Given the description of an element on the screen output the (x, y) to click on. 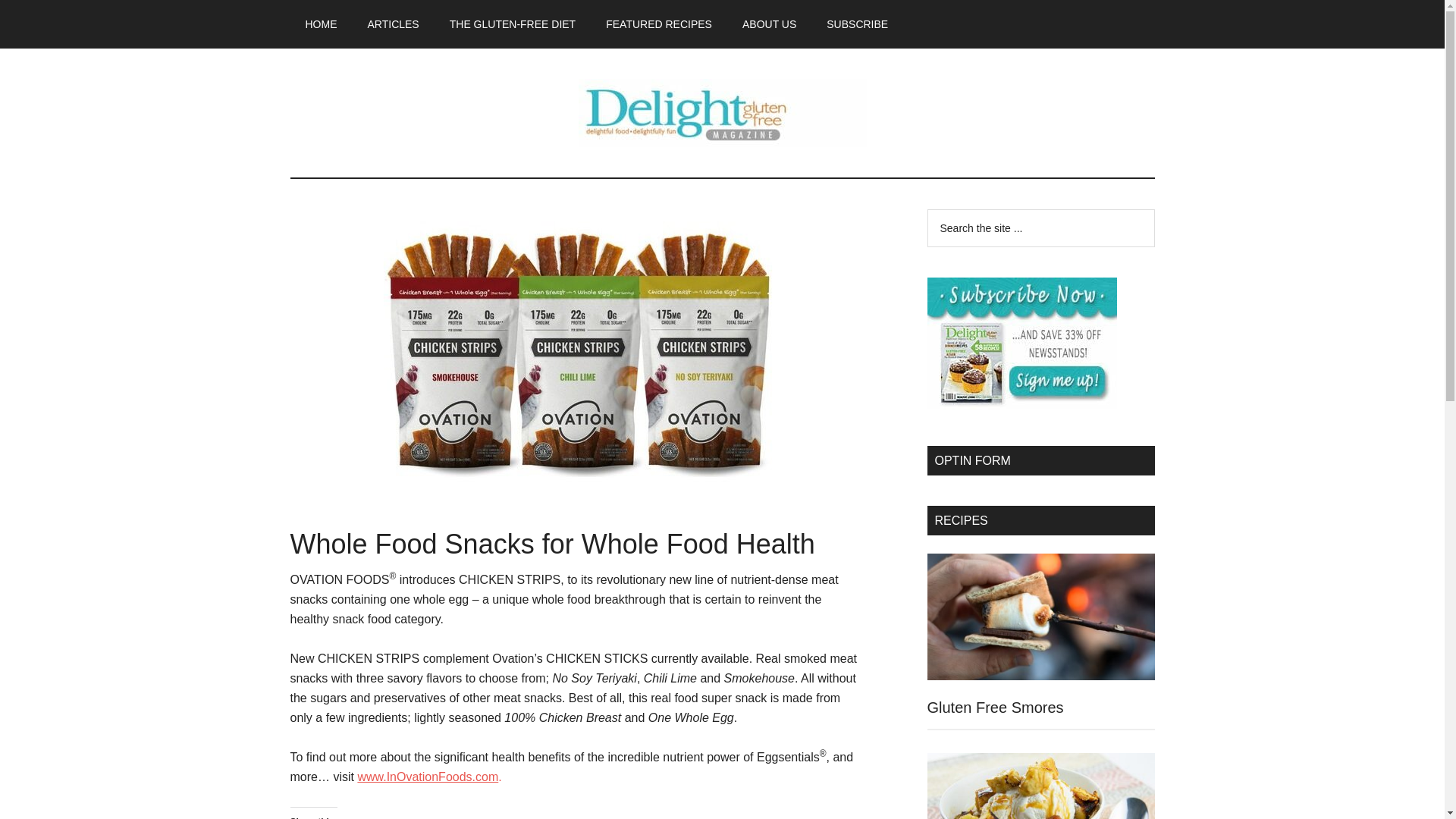
Delight Gluten-Free (721, 112)
HOME (320, 24)
ARTICLES (392, 24)
Gluten Free Smores (994, 707)
FEATURED RECIPES (658, 24)
THE GLUTEN-FREE DIET (512, 24)
www.InOvationFoods.com. (428, 776)
ABOUT US (768, 24)
SUBSCRIBE (856, 24)
